Given the description of an element on the screen output the (x, y) to click on. 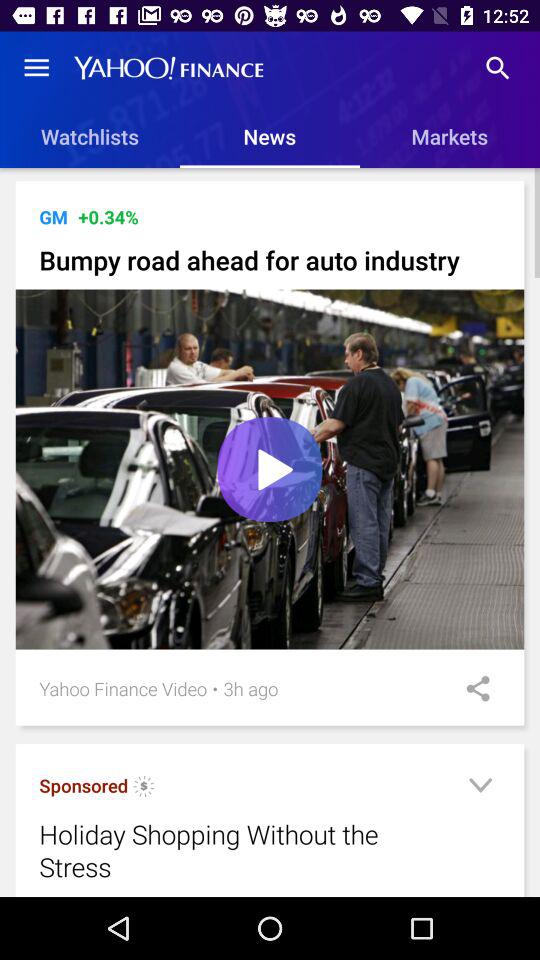
tap the item below the gm item (269, 259)
